Given the description of an element on the screen output the (x, y) to click on. 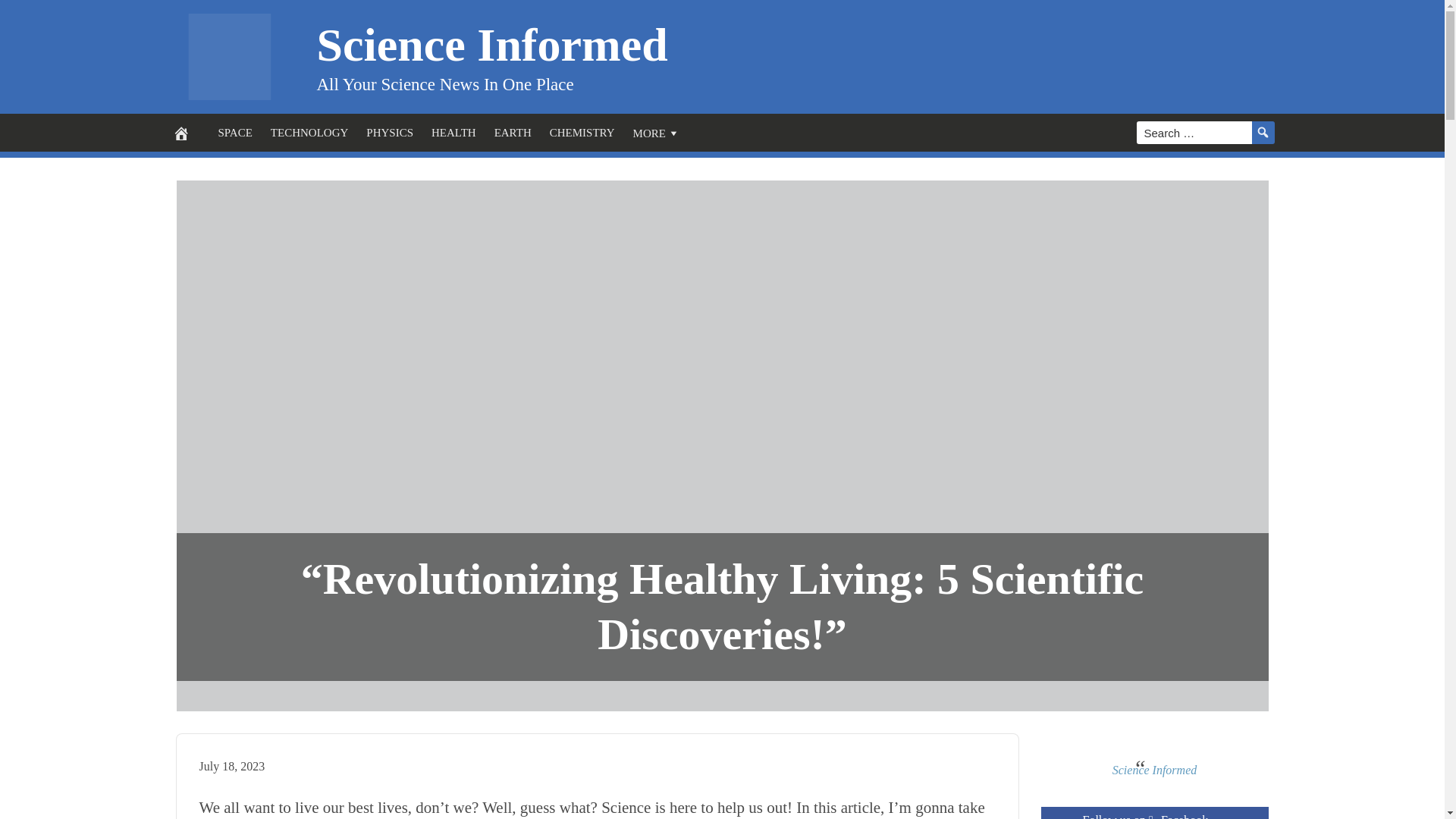
TECHNOLOGY (310, 132)
CHEMISTRY (582, 132)
HEALTH (453, 132)
MORE (656, 132)
PHYSICS (389, 132)
EARTH (512, 132)
SPACE (235, 132)
Science Informed (492, 43)
